Given the description of an element on the screen output the (x, y) to click on. 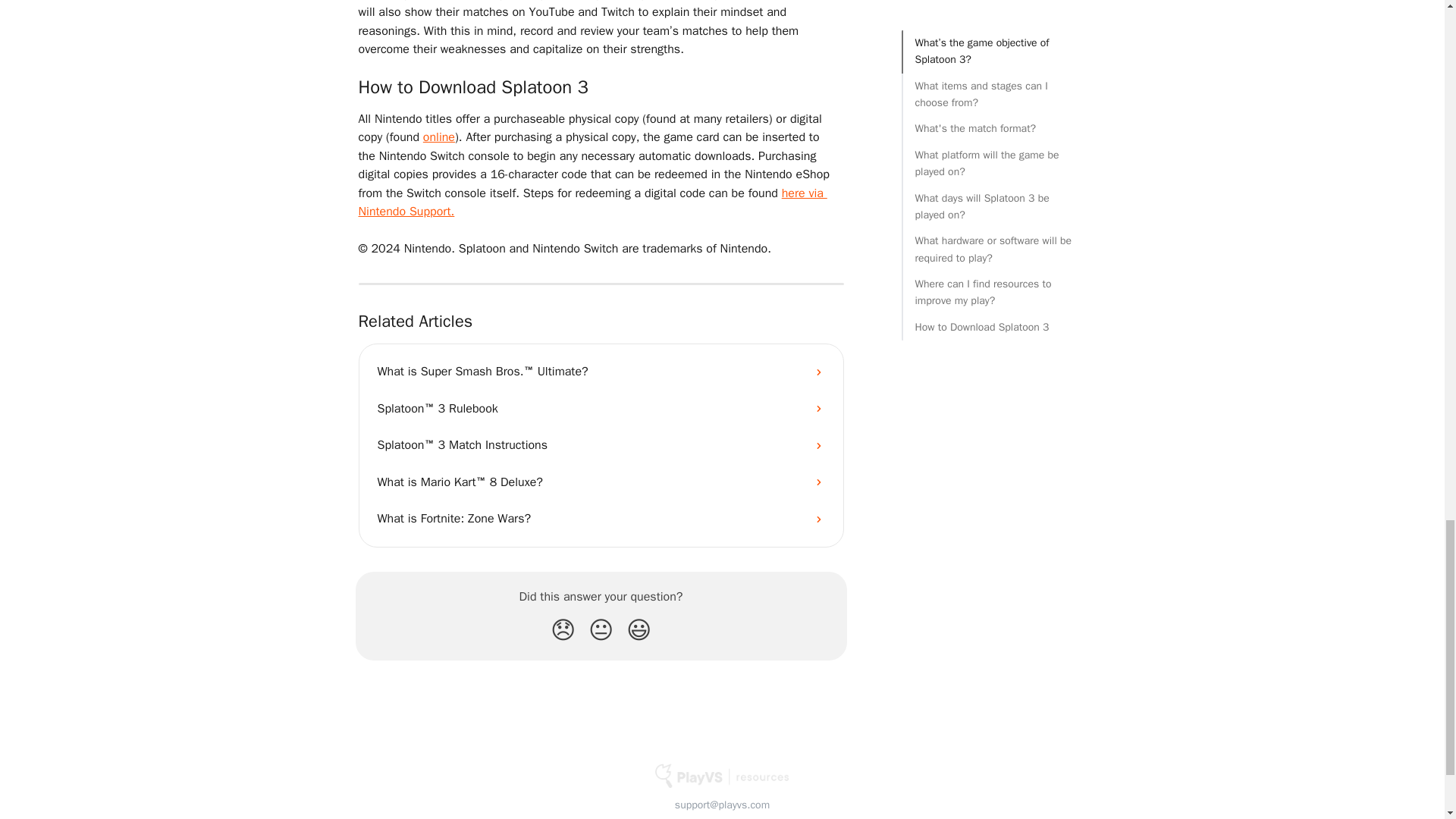
What is Fortnite: Zone Wars? (601, 518)
online (438, 136)
here via Nintendo Support. (592, 202)
